Given the description of an element on the screen output the (x, y) to click on. 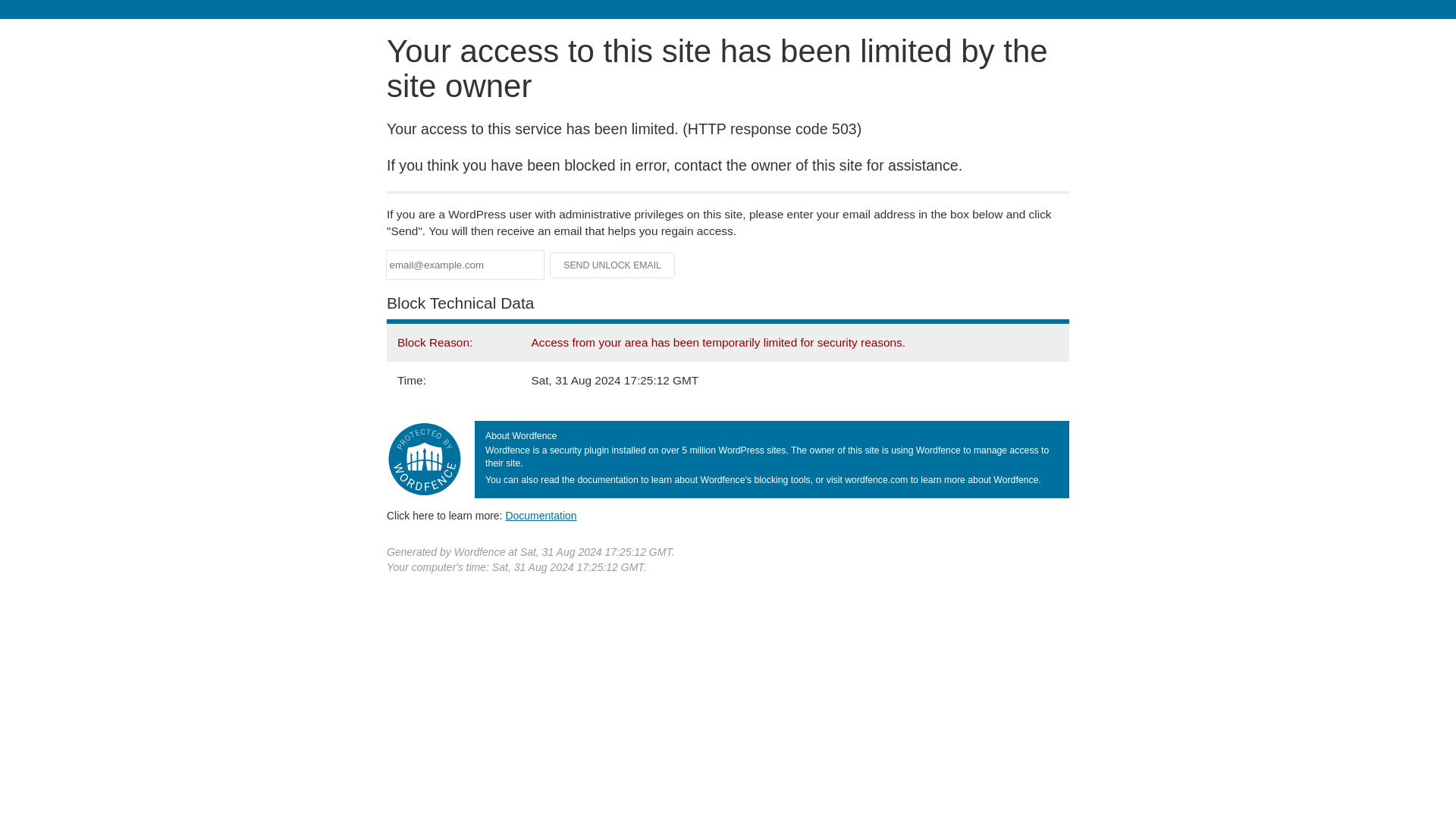
Documentation (540, 515)
Send Unlock Email (612, 265)
Send Unlock Email (612, 265)
